Given the description of an element on the screen output the (x, y) to click on. 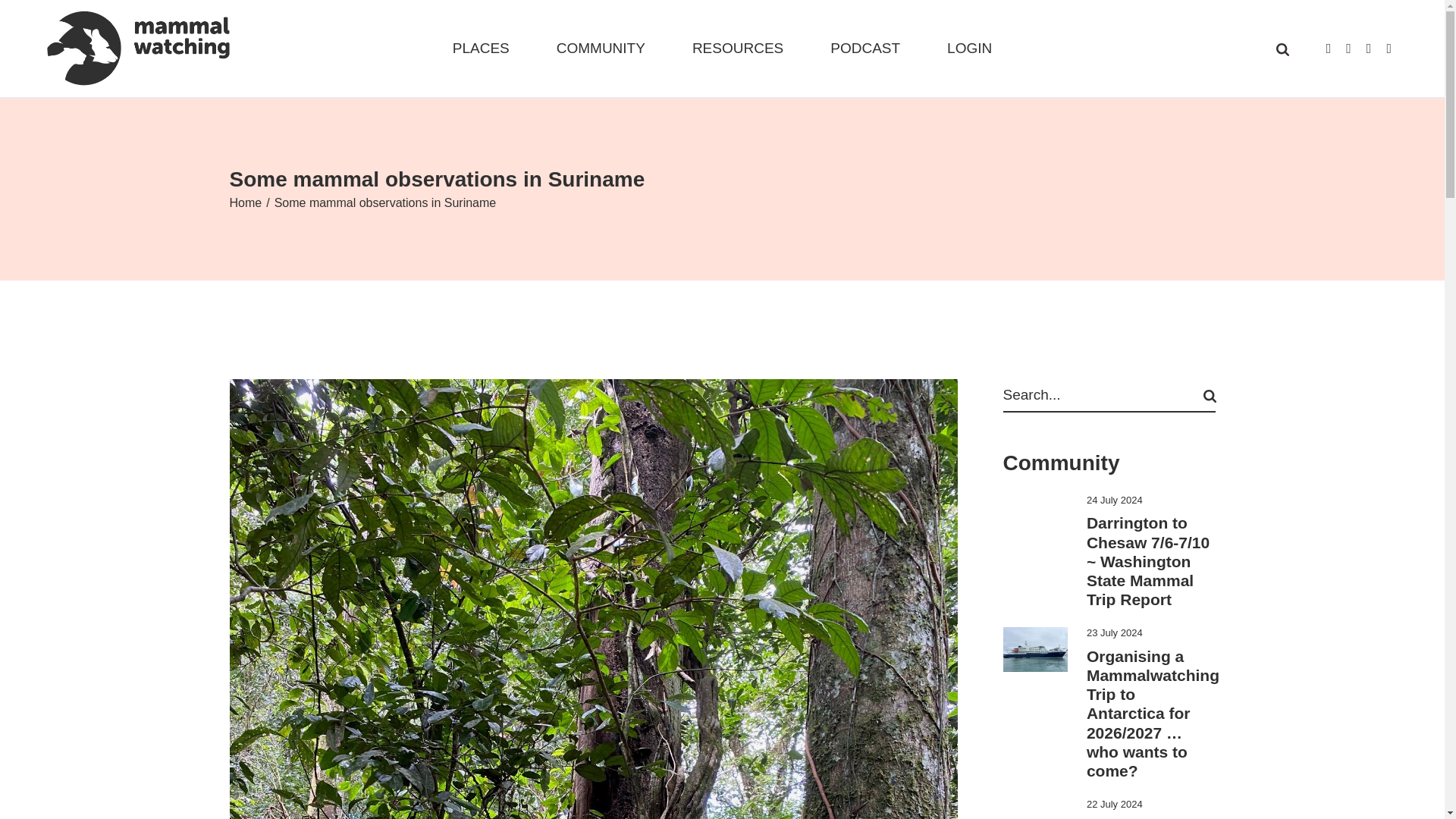
COMMUNITY (600, 48)
RESOURCES (738, 48)
